Given the description of an element on the screen output the (x, y) to click on. 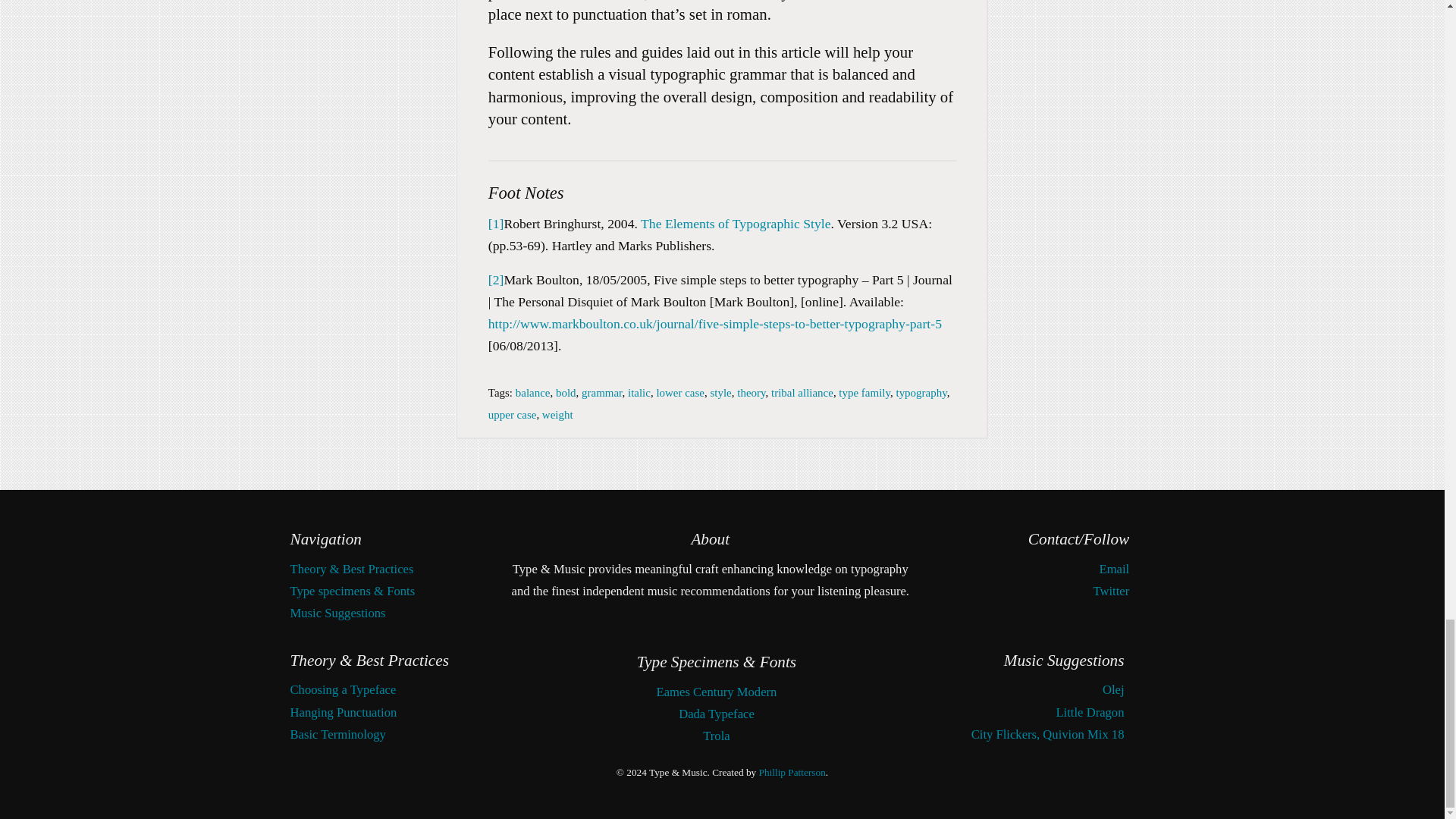
Phillip Patterson (791, 772)
Basic Terminology (337, 734)
grammar (600, 392)
Music Suggestions (337, 612)
bold (566, 392)
article footnotes (721, 257)
Hanging Punctuation (342, 712)
balance (532, 392)
Email (1114, 568)
Trola (716, 735)
